Given the description of an element on the screen output the (x, y) to click on. 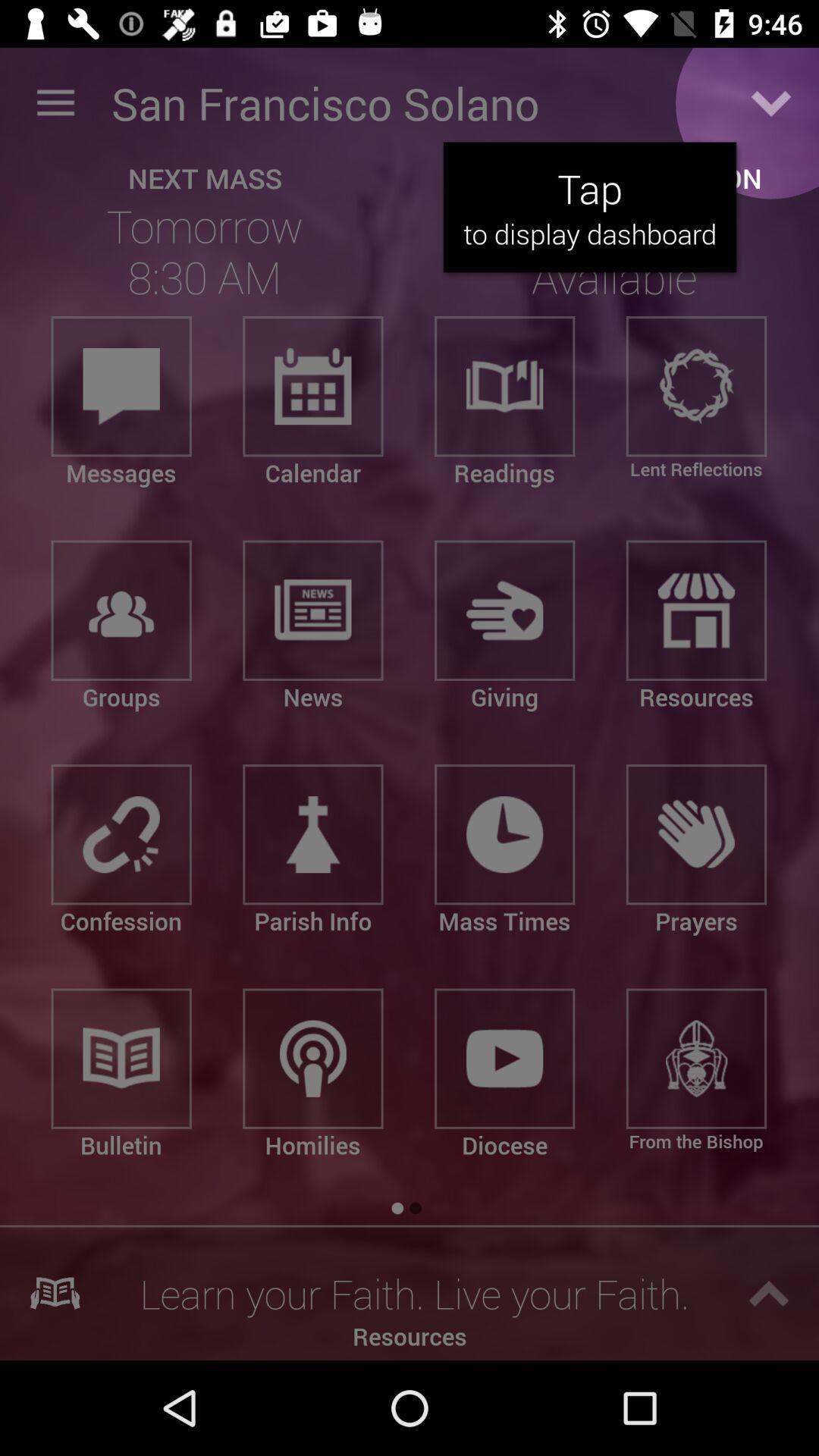
show less options (771, 103)
